Given the description of an element on the screen output the (x, y) to click on. 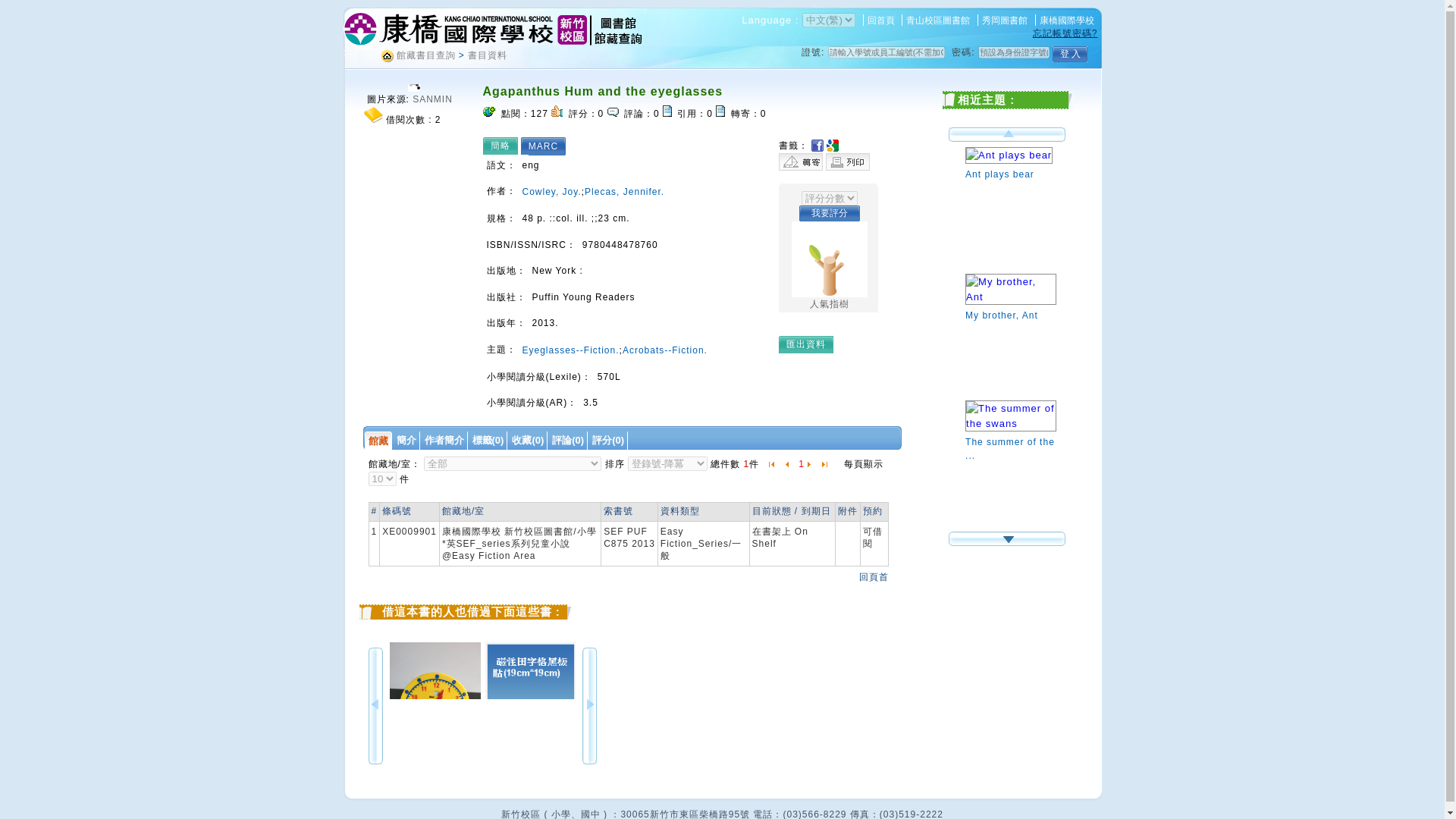
The summer of the ... (1011, 439)
Plecas, Jennifer. (624, 191)
MARC (547, 145)
Ant plays bear (1011, 164)
My brother, Ant (1011, 306)
MARC (547, 145)
Cowley, Joy. (550, 191)
1 (801, 462)
Acrobats--Fiction. (665, 348)
Eyeglasses--Fiction. (569, 348)
SANMIN (432, 99)
::: (347, 51)
SANMIN (432, 99)
